Given the description of an element on the screen output the (x, y) to click on. 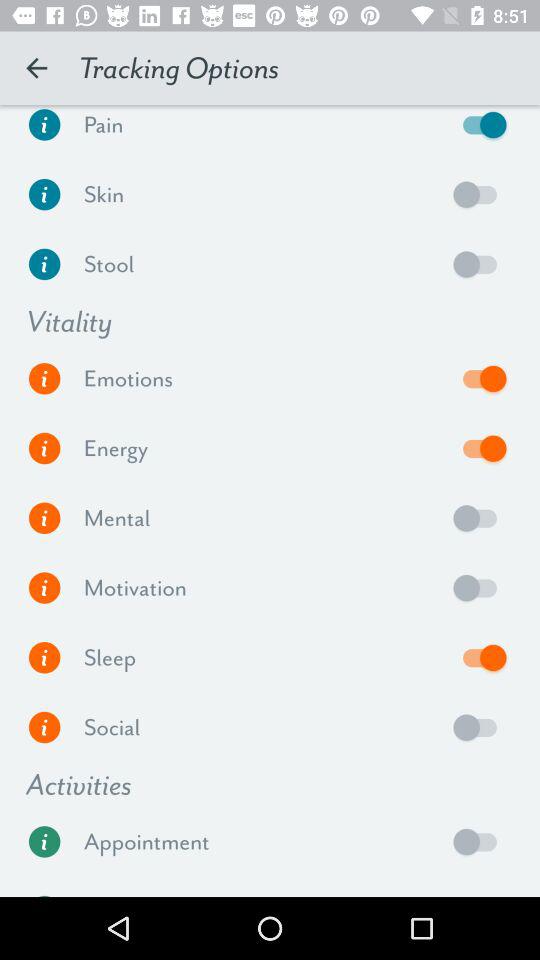
toggle motivation option (479, 587)
